Given the description of an element on the screen output the (x, y) to click on. 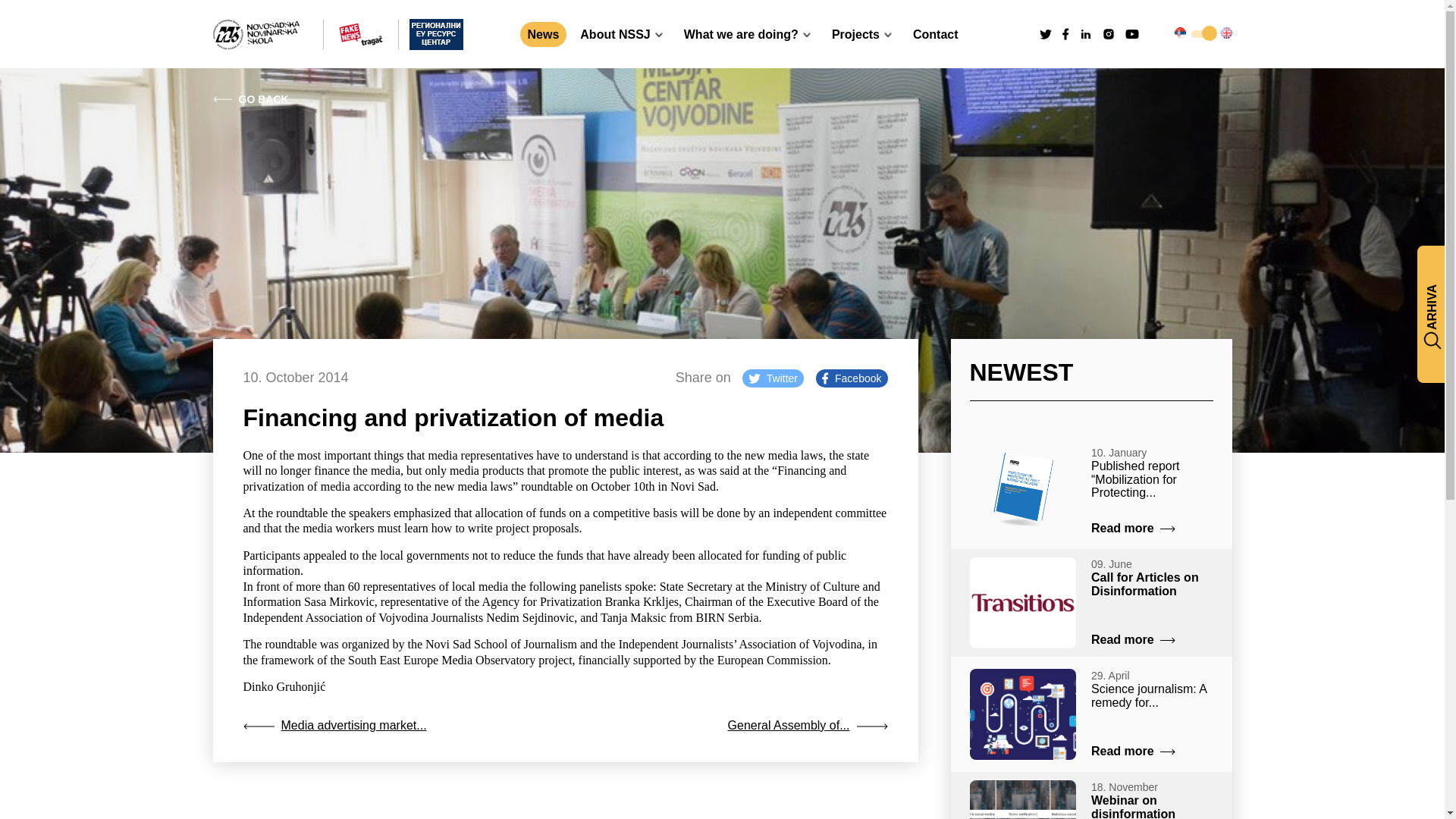
Media advertising market... (334, 725)
About NSSJ (620, 33)
What we are doing? (747, 33)
Read more (1132, 528)
Read more (1132, 640)
Projects (861, 33)
General Assembly of... (808, 725)
Facebook (850, 378)
Contact (935, 33)
Twitter (772, 378)
News (543, 33)
Read more (1132, 751)
GO BACK (250, 99)
